Given the description of an element on the screen output the (x, y) to click on. 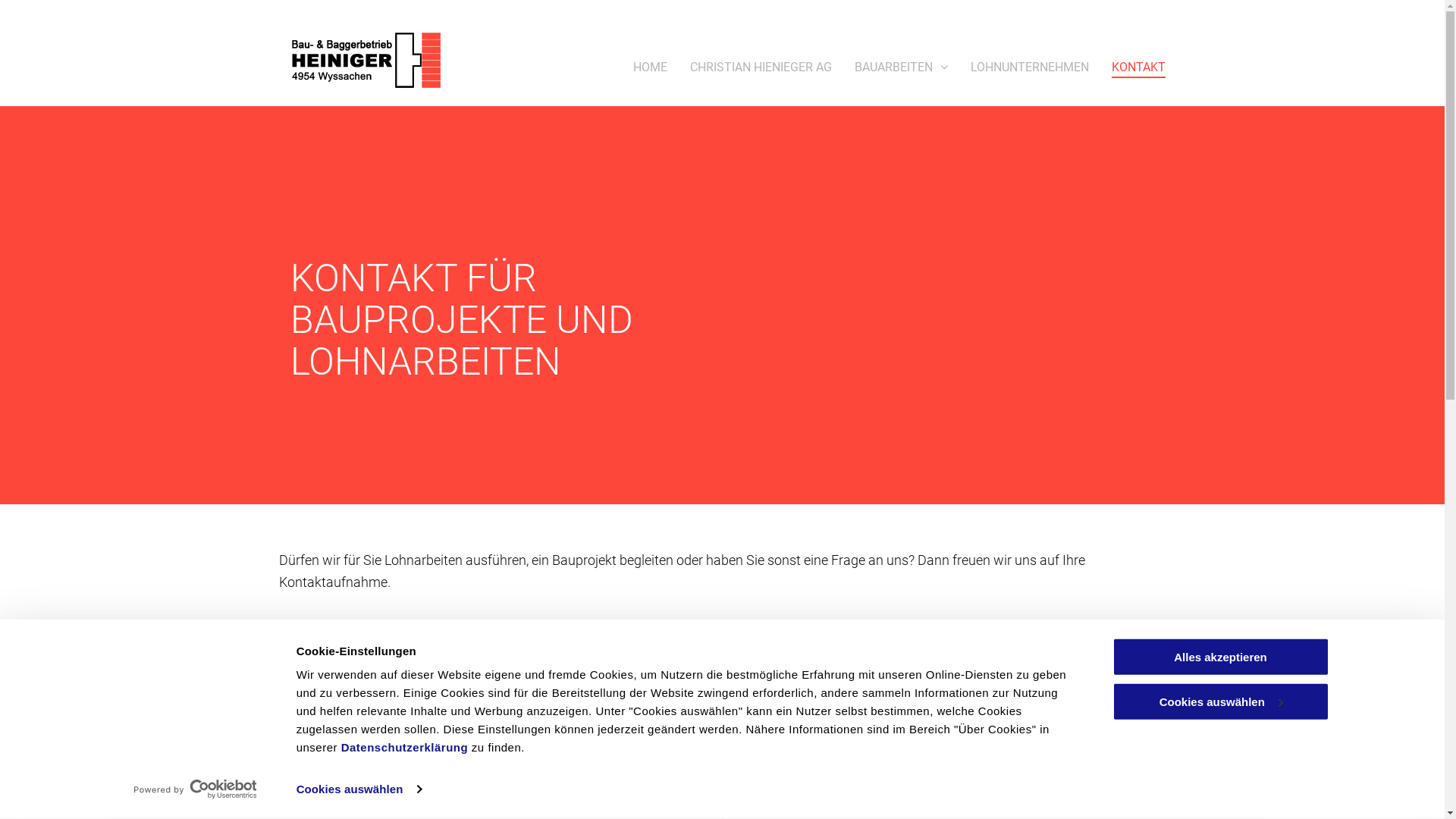
KONTAKT Element type: text (1138, 67)
HOME Element type: text (649, 67)
BAUARBEITEN Element type: text (901, 67)
062 966 05 15 Element type: text (371, 807)
CHRISTIAN HIENIEGER AG Element type: text (760, 67)
LOHNUNTERNEHMEN Element type: text (1029, 67)
Alles akzeptieren Element type: text (1219, 656)
